Given the description of an element on the screen output the (x, y) to click on. 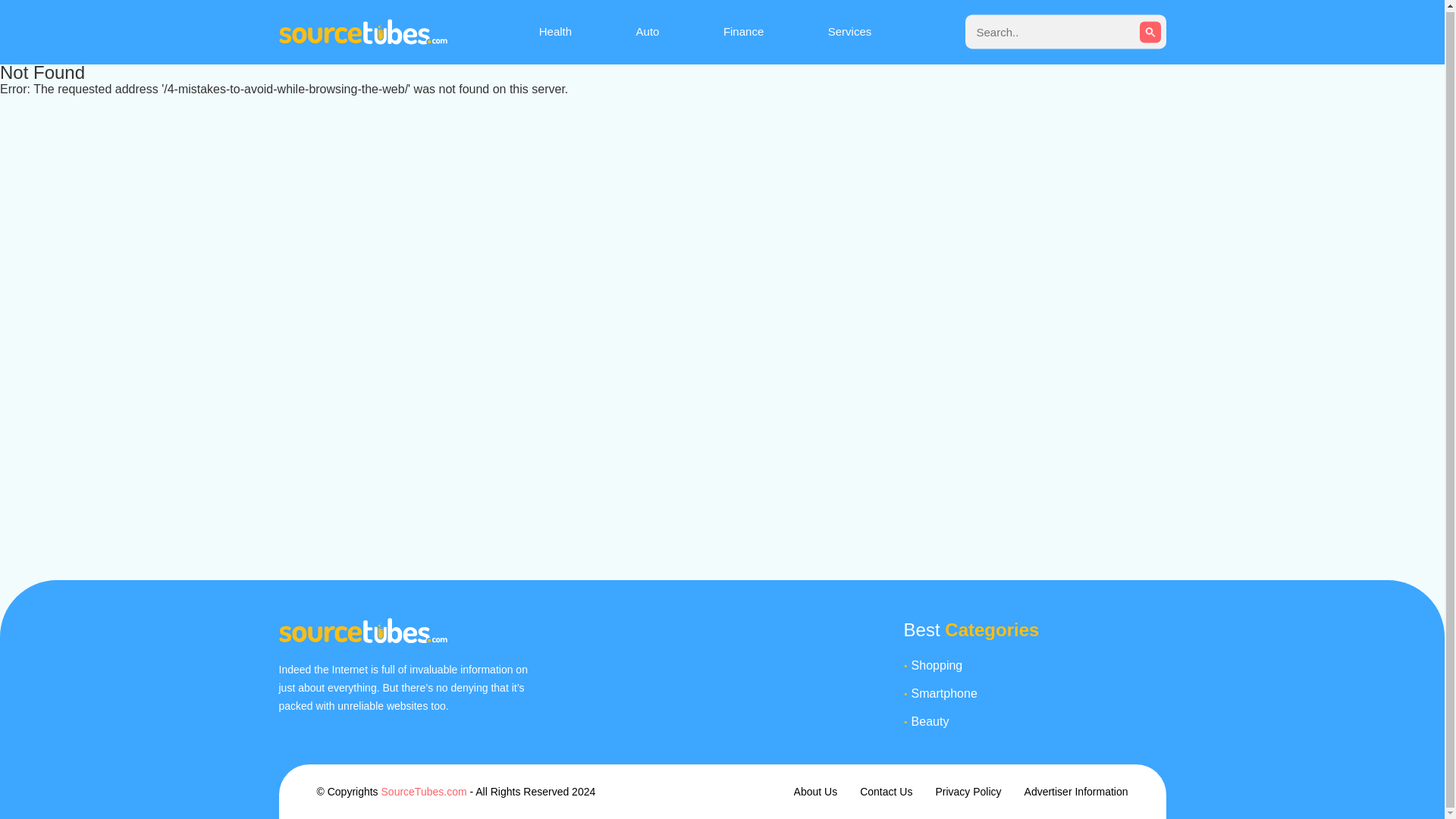
Shopping (1038, 665)
Advertiser Information (1076, 791)
About Us (815, 791)
Finance (742, 31)
Auto (647, 31)
Health (555, 31)
Smartphone (1038, 693)
Privacy Policy (967, 791)
Services (850, 31)
Contact Us (886, 791)
Beauty (1038, 721)
